Given the description of an element on the screen output the (x, y) to click on. 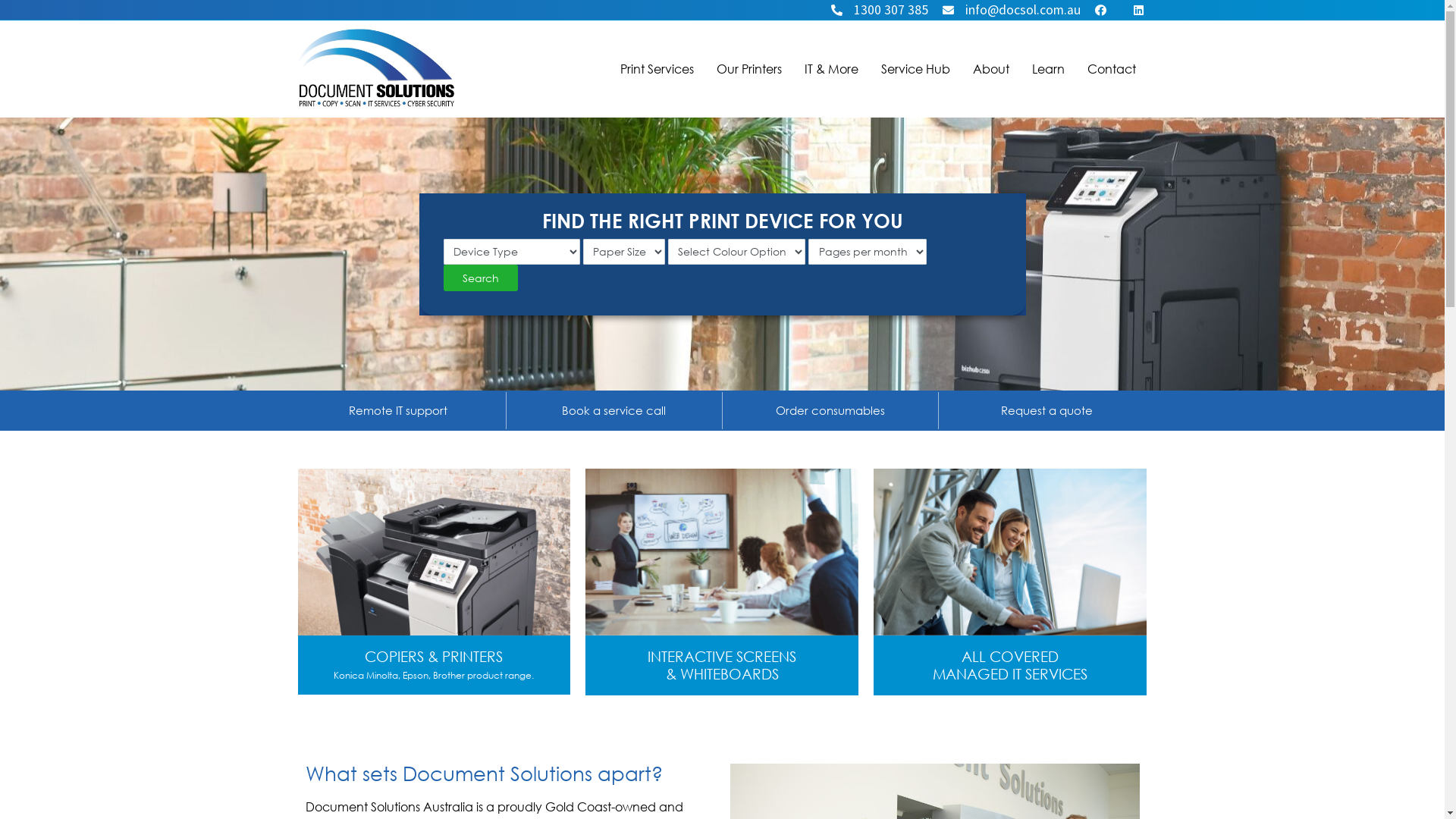
Service Hub Element type: text (914, 68)
About Element type: text (990, 68)
info@docsol.com.au Element type: text (1009, 9)
Order consumables Element type: text (829, 410)
Our Printers Element type: text (749, 68)
Print Services Element type: text (656, 68)
IT & More Element type: text (831, 68)
INTERACTIVE SCREENS
& WHITEBOARDS Element type: text (721, 581)
Request a quote Element type: text (1046, 410)
Remote IT support Element type: text (397, 410)
Book a service call Element type: text (614, 410)
1300 307 385 Element type: text (878, 9)
Contact Element type: text (1110, 68)
ALL COVERED
MANAGED IT SERVICES Element type: text (1009, 581)
Learn Element type: text (1048, 68)
Search Element type: text (479, 277)
